Given the description of an element on the screen output the (x, y) to click on. 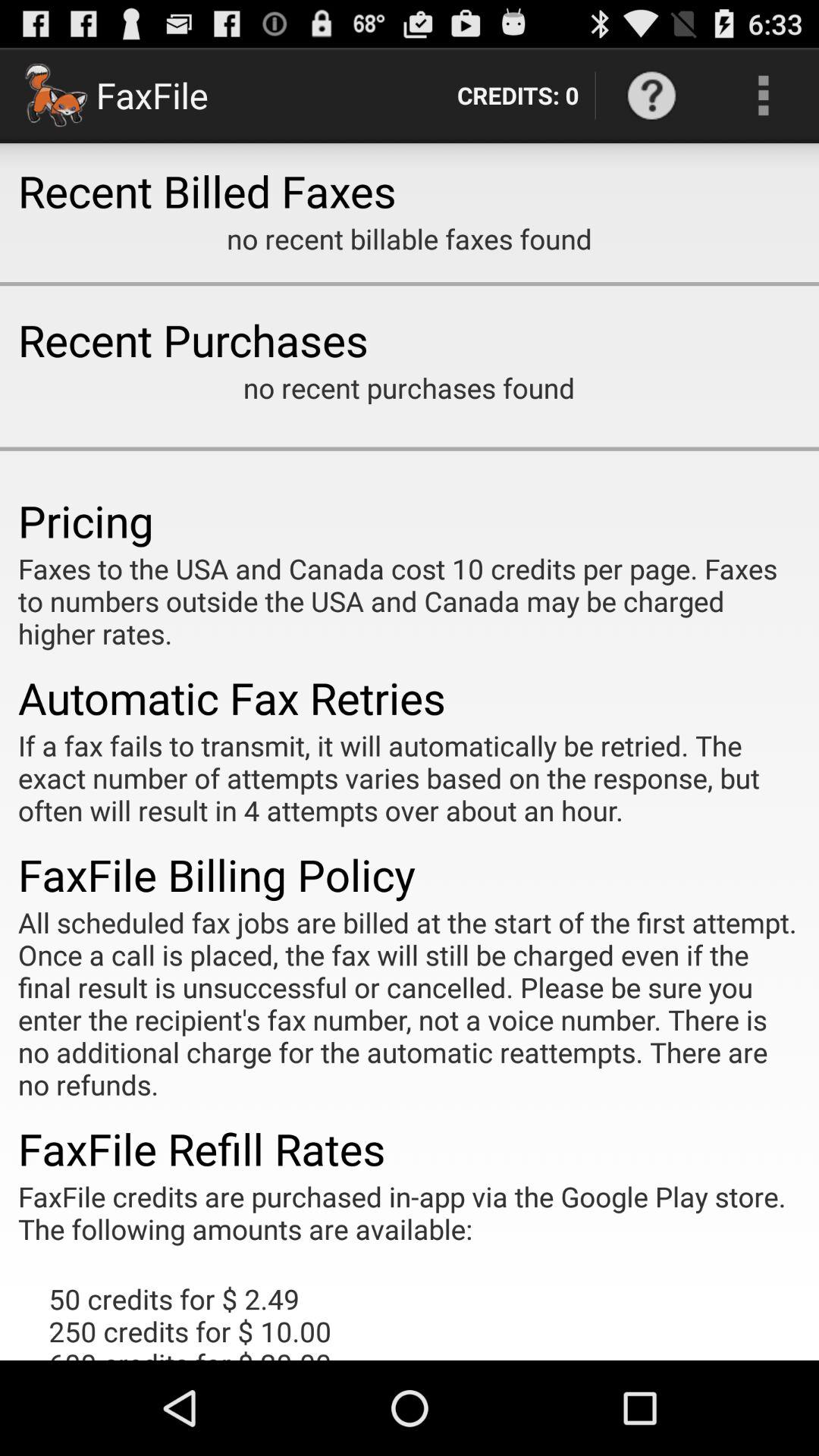
select icon to the right of credits: 0 item (651, 95)
